Given the description of an element on the screen output the (x, y) to click on. 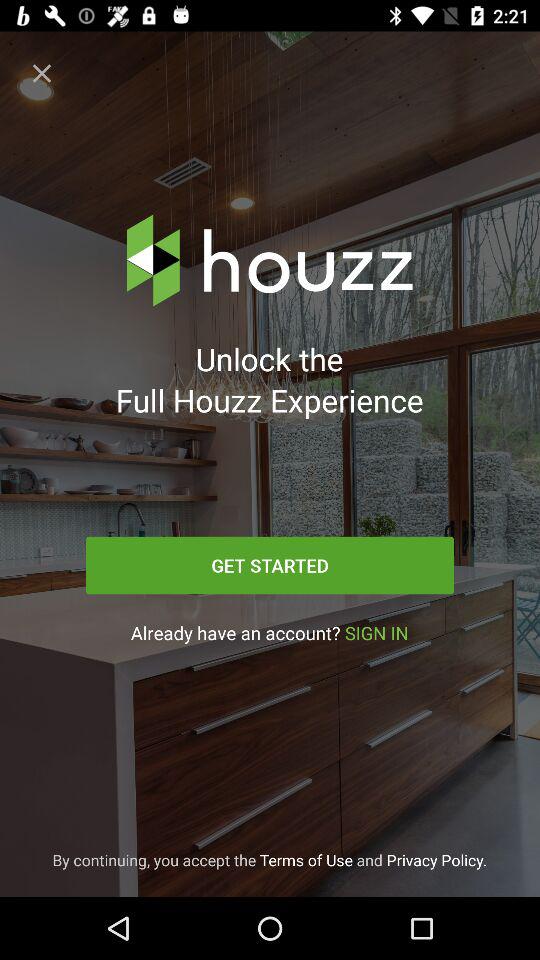
open the icon above by continuing you (269, 632)
